Given the description of an element on the screen output the (x, y) to click on. 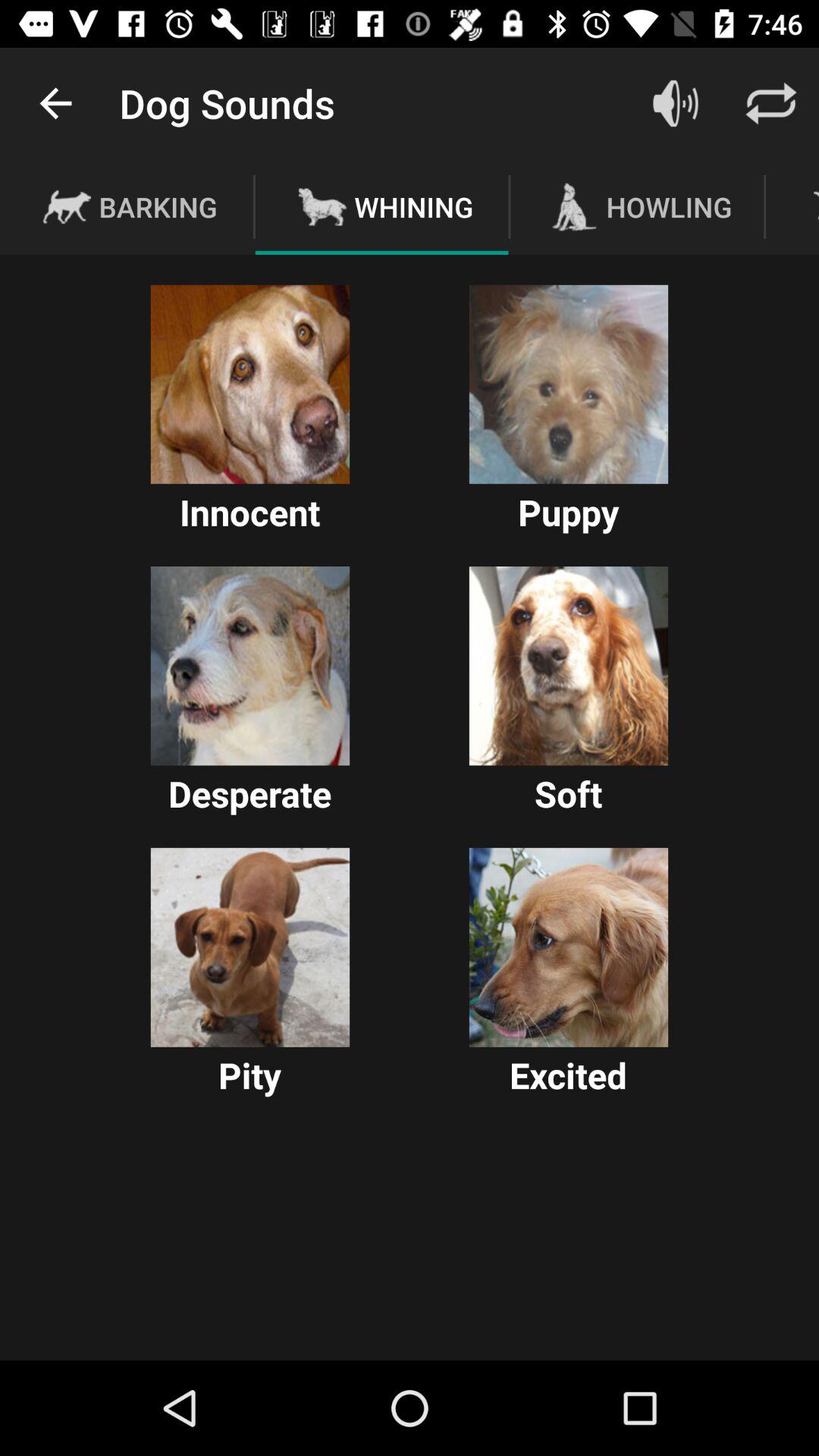
hear that sound (568, 665)
